Given the description of an element on the screen output the (x, y) to click on. 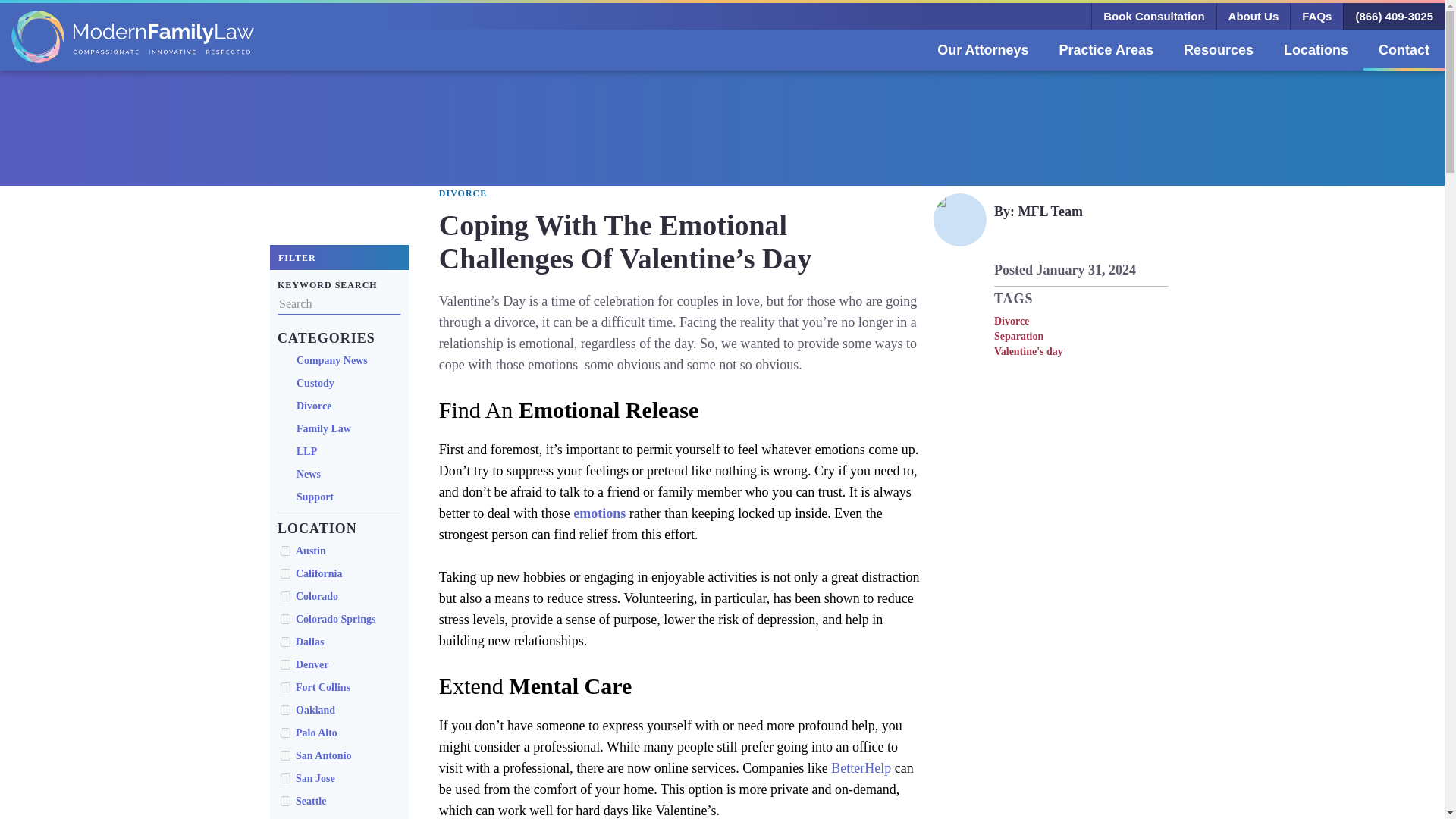
seattle (285, 800)
austin (285, 551)
dallas (285, 642)
FAQs (1316, 16)
Our Attorneys (982, 49)
Locations (1315, 49)
Practice Areas (1105, 49)
san-jose (285, 777)
oakland (285, 709)
colorado-springs (285, 619)
palo-alto (285, 732)
denver (285, 664)
About Us (1252, 16)
fort-collins (285, 687)
colorado (285, 596)
